Given the description of an element on the screen output the (x, y) to click on. 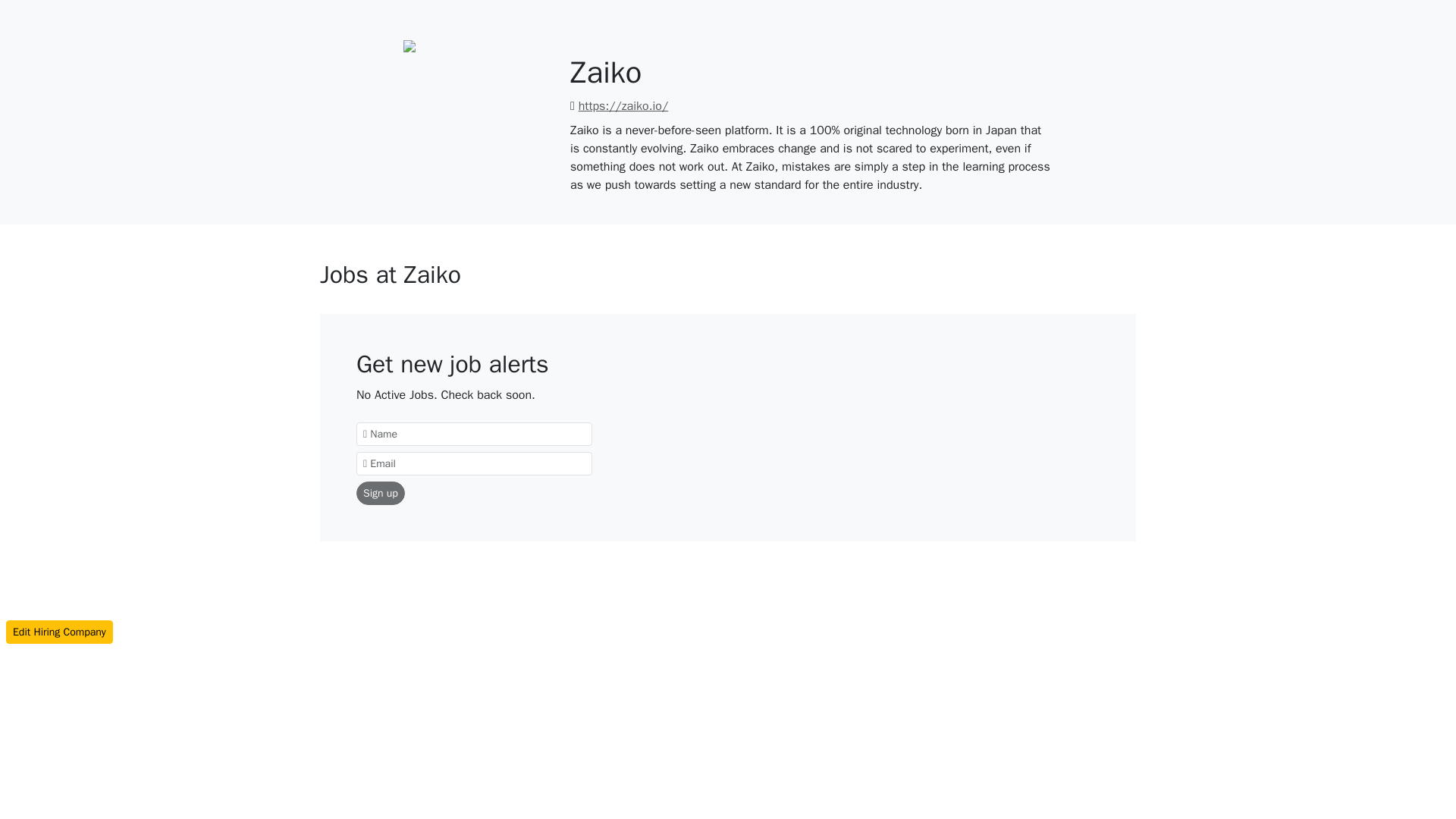
Edit Hiring Company (59, 631)
Sign up (380, 493)
Sign up (380, 493)
